Given the description of an element on the screen output the (x, y) to click on. 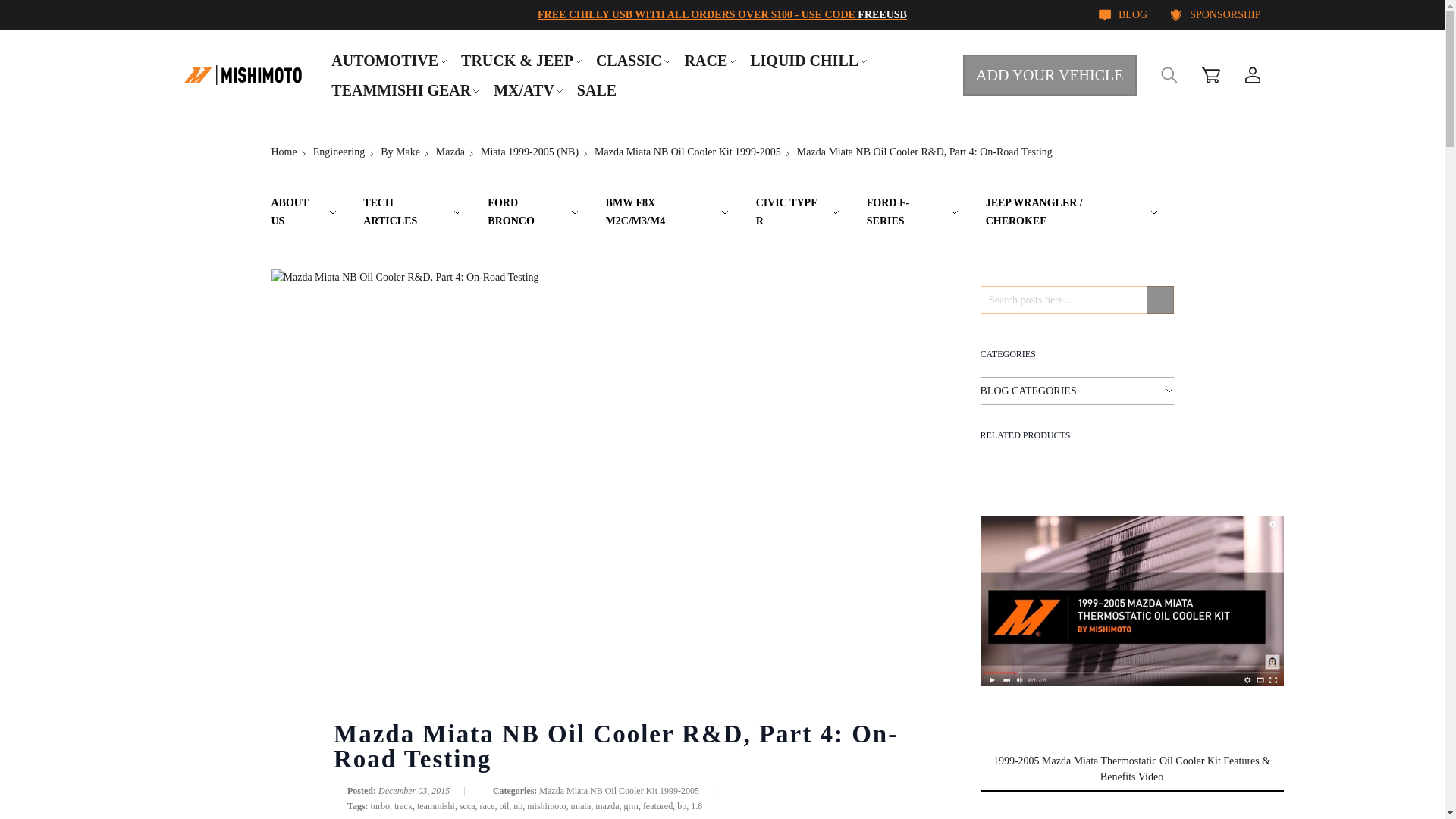
Mishimoto (242, 74)
Go to Home Page (283, 151)
SPONSORSHIP (1215, 14)
By Make (400, 151)
Mazda Miata NB Oil Cooler Kit 1999-2005 (687, 151)
Mazda (449, 151)
AUTOMOTIVE (390, 59)
Engineering (339, 151)
BLOG (1123, 14)
